Given the description of an element on the screen output the (x, y) to click on. 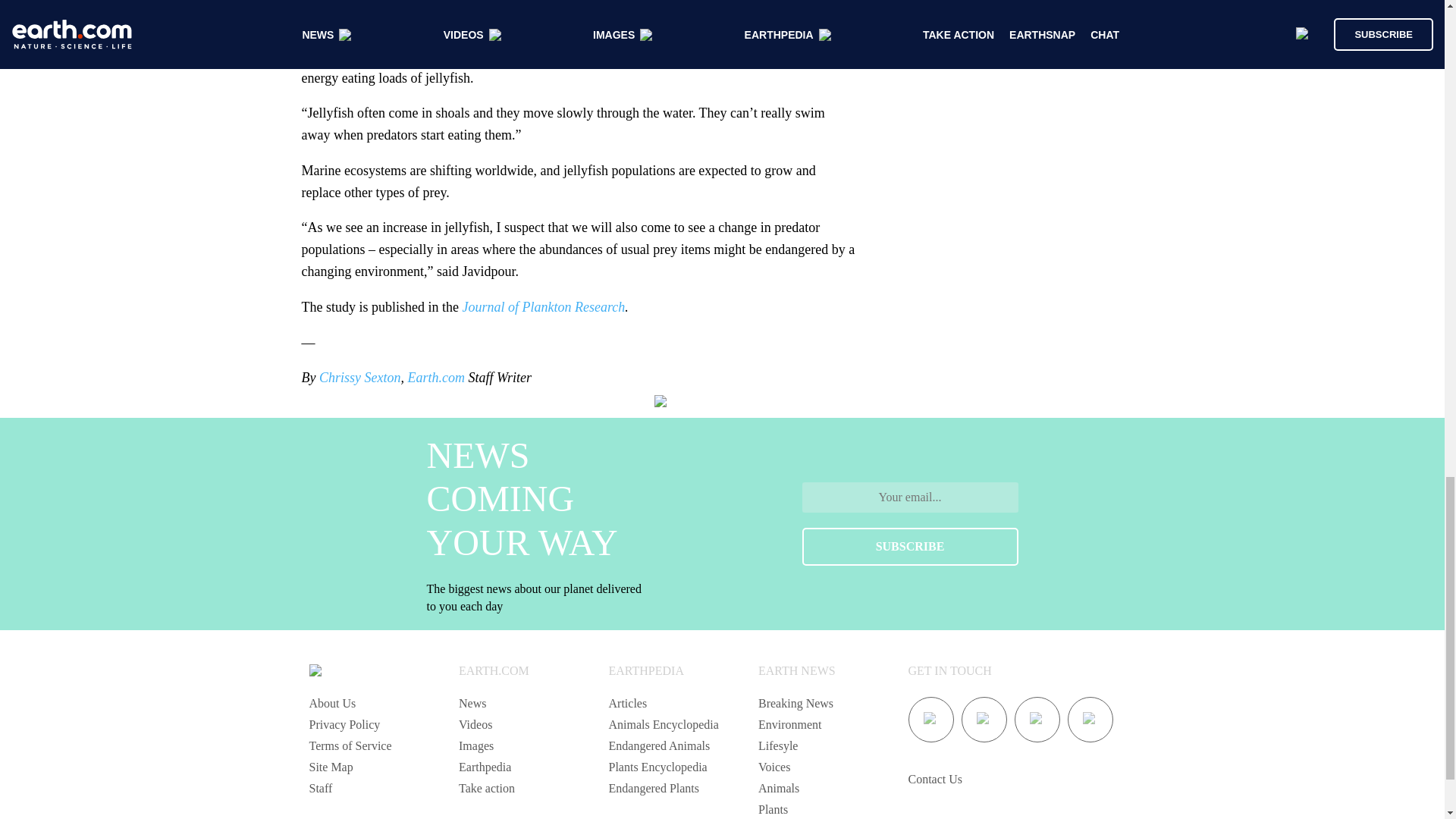
Chrissy Sexton (359, 377)
Earth.com (435, 377)
SUBSCRIBE (909, 546)
Journal of Plankton Research (542, 306)
